Given the description of an element on the screen output the (x, y) to click on. 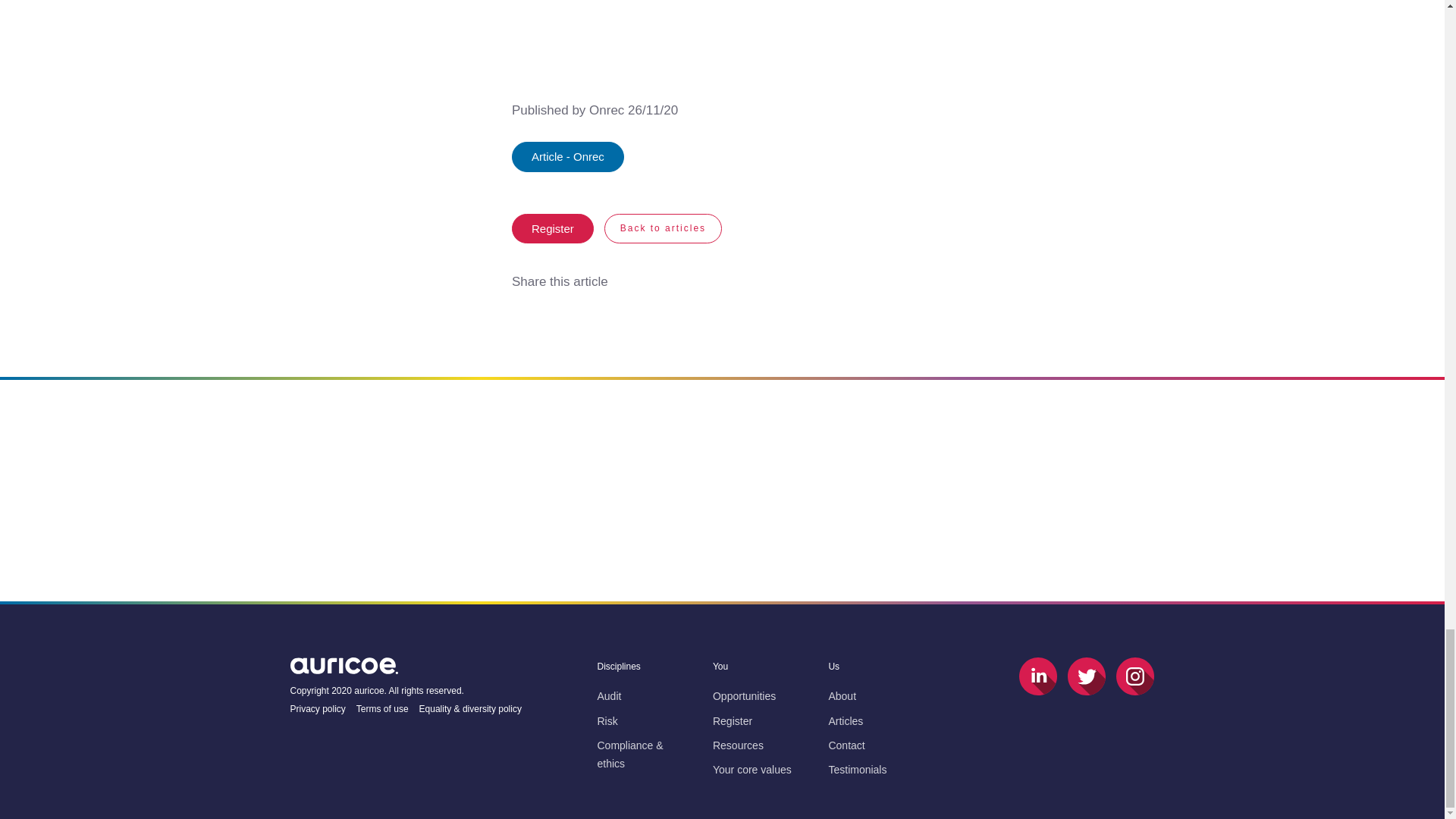
Register (553, 228)
Register (732, 720)
Article - Onrec (568, 156)
Audit (608, 695)
Privacy policy (317, 709)
Back to articles (663, 228)
Opportunities (744, 695)
Terms of use (382, 709)
Risk (606, 720)
